Given the description of an element on the screen output the (x, y) to click on. 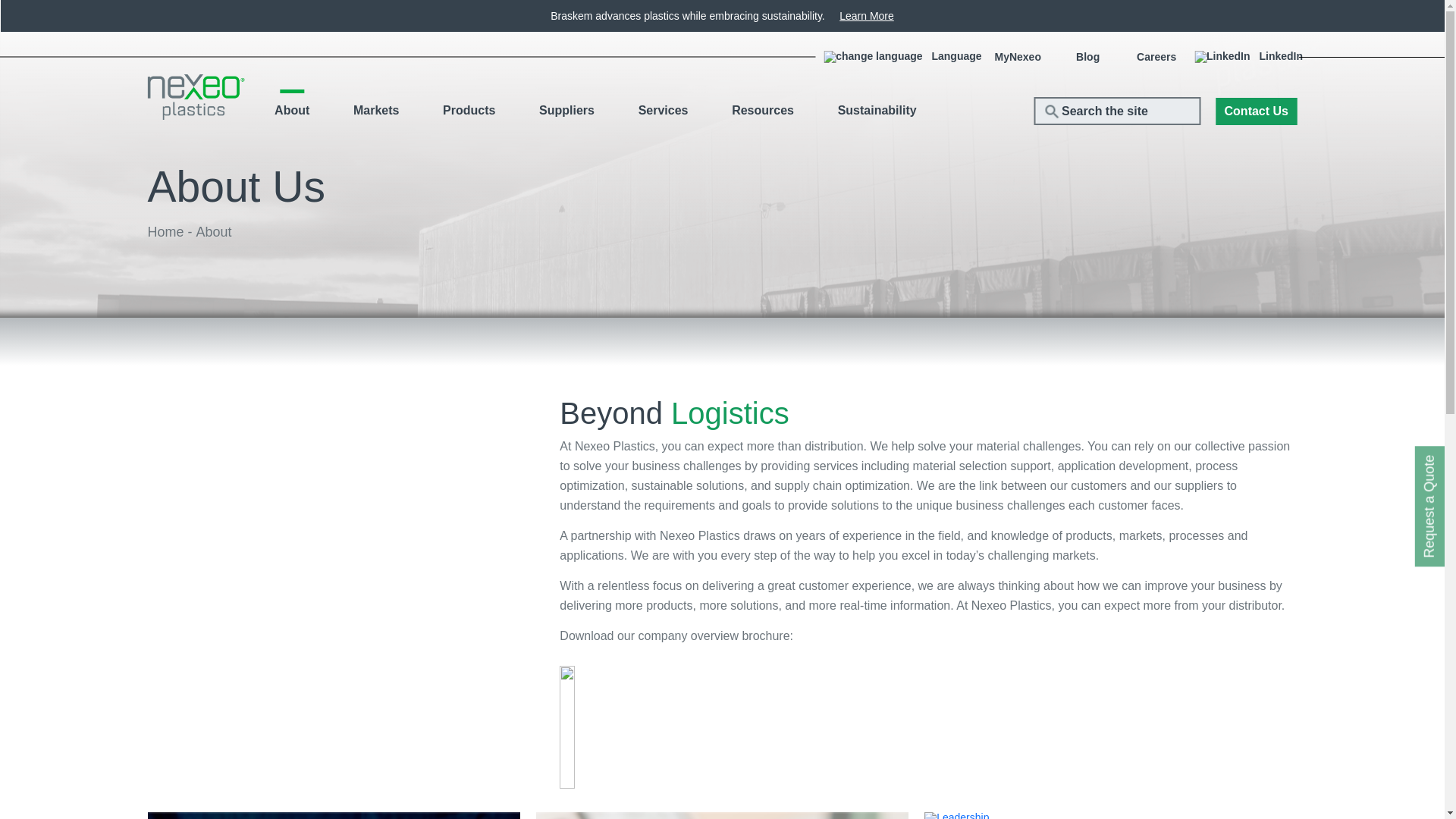
Home (165, 231)
